Given the description of an element on the screen output the (x, y) to click on. 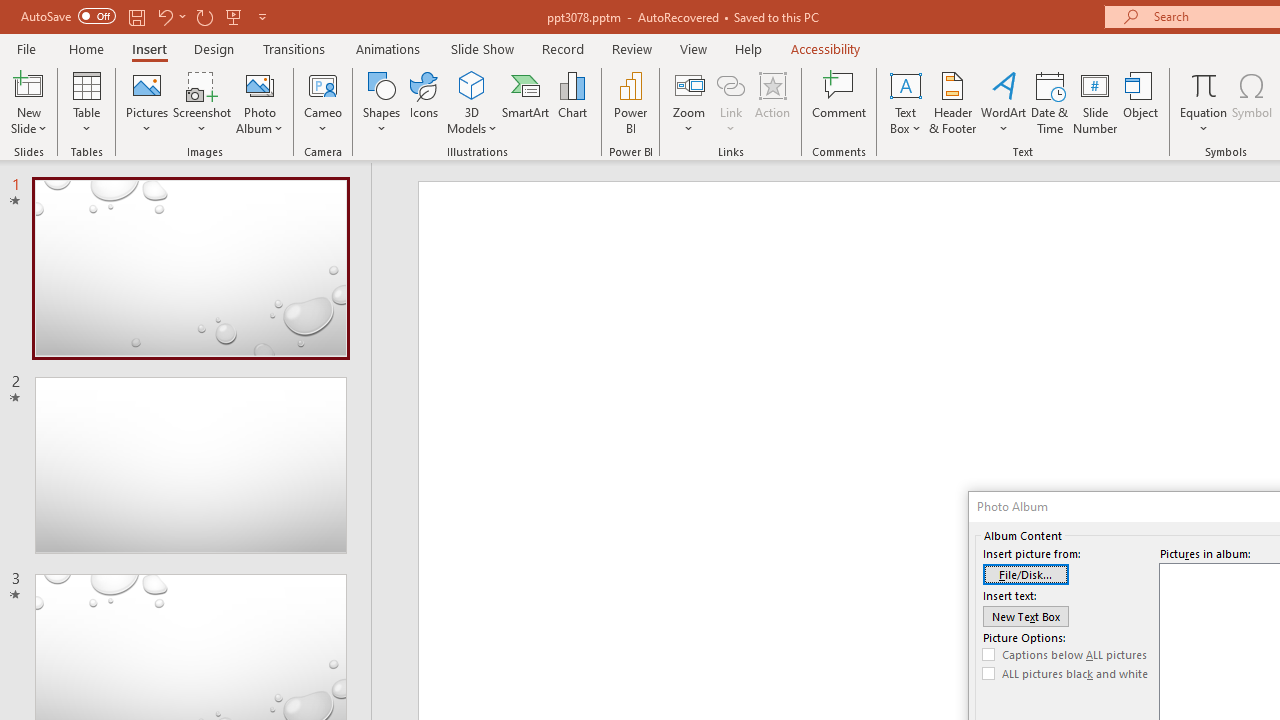
Header & Footer... (952, 102)
Chart... (572, 102)
Draw Horizontal Text Box (905, 84)
Object... (1141, 102)
Date & Time... (1050, 102)
Captions below ALL pictures (1065, 655)
Comment (839, 102)
Screenshot (202, 102)
Link (731, 102)
